Given the description of an element on the screen output the (x, y) to click on. 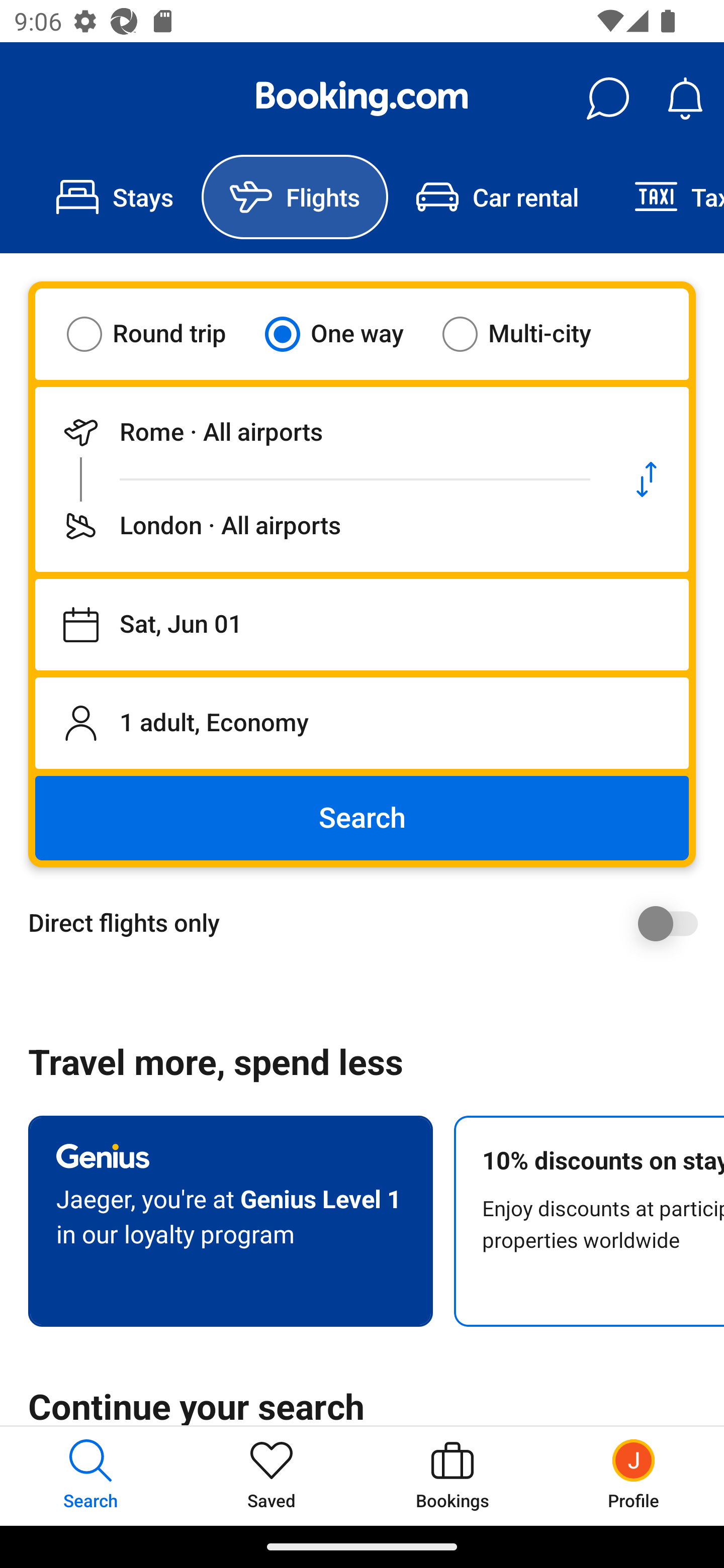
Messages (607, 98)
Notifications (685, 98)
Stays (114, 197)
Flights (294, 197)
Car rental (497, 197)
Taxi (665, 197)
Round trip (158, 333)
Multi-city (528, 333)
Departing from Rome · All airports (319, 432)
Swap departure location and destination (646, 479)
Flying to London · All airports (319, 525)
Departing on Sat, Jun 01 (361, 624)
1 adult, Economy (361, 722)
Search (361, 818)
Direct flights only (369, 923)
Saved (271, 1475)
Bookings (452, 1475)
Profile (633, 1475)
